Given the description of an element on the screen output the (x, y) to click on. 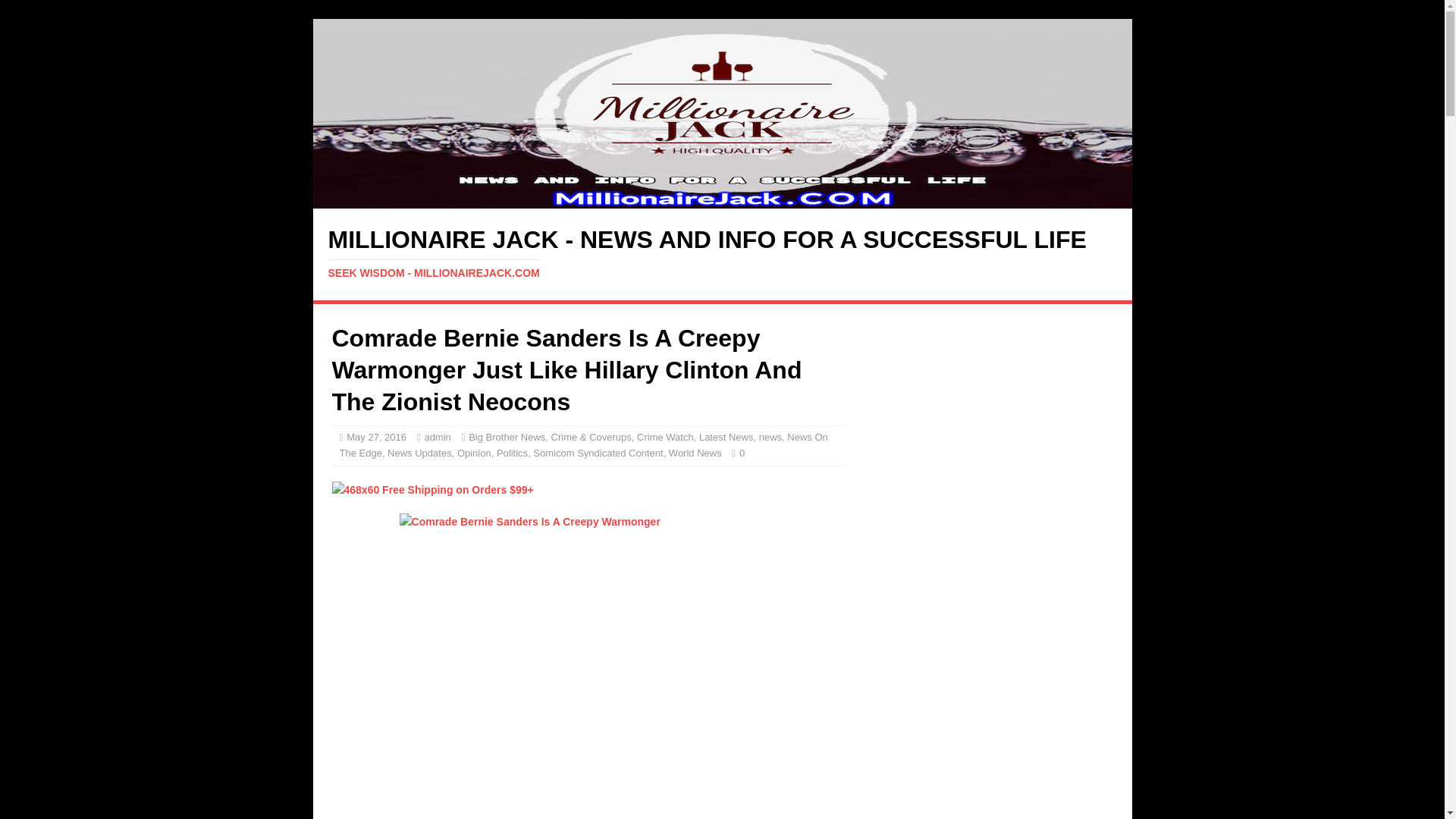
News On The Edge (583, 444)
Crime Watch (665, 437)
news (769, 437)
Latest News (726, 437)
Somicom Syndicated Content (597, 452)
Opinion (474, 452)
News Updates (419, 452)
May 27, 2016 (376, 437)
World News (695, 452)
Politics (511, 452)
Millionaire Jack - News And Info For A Successful Life (721, 253)
admin (436, 437)
Big Brother News (506, 437)
Millionaire Jack - News And Info For A Successful Life (722, 200)
